Given the description of an element on the screen output the (x, y) to click on. 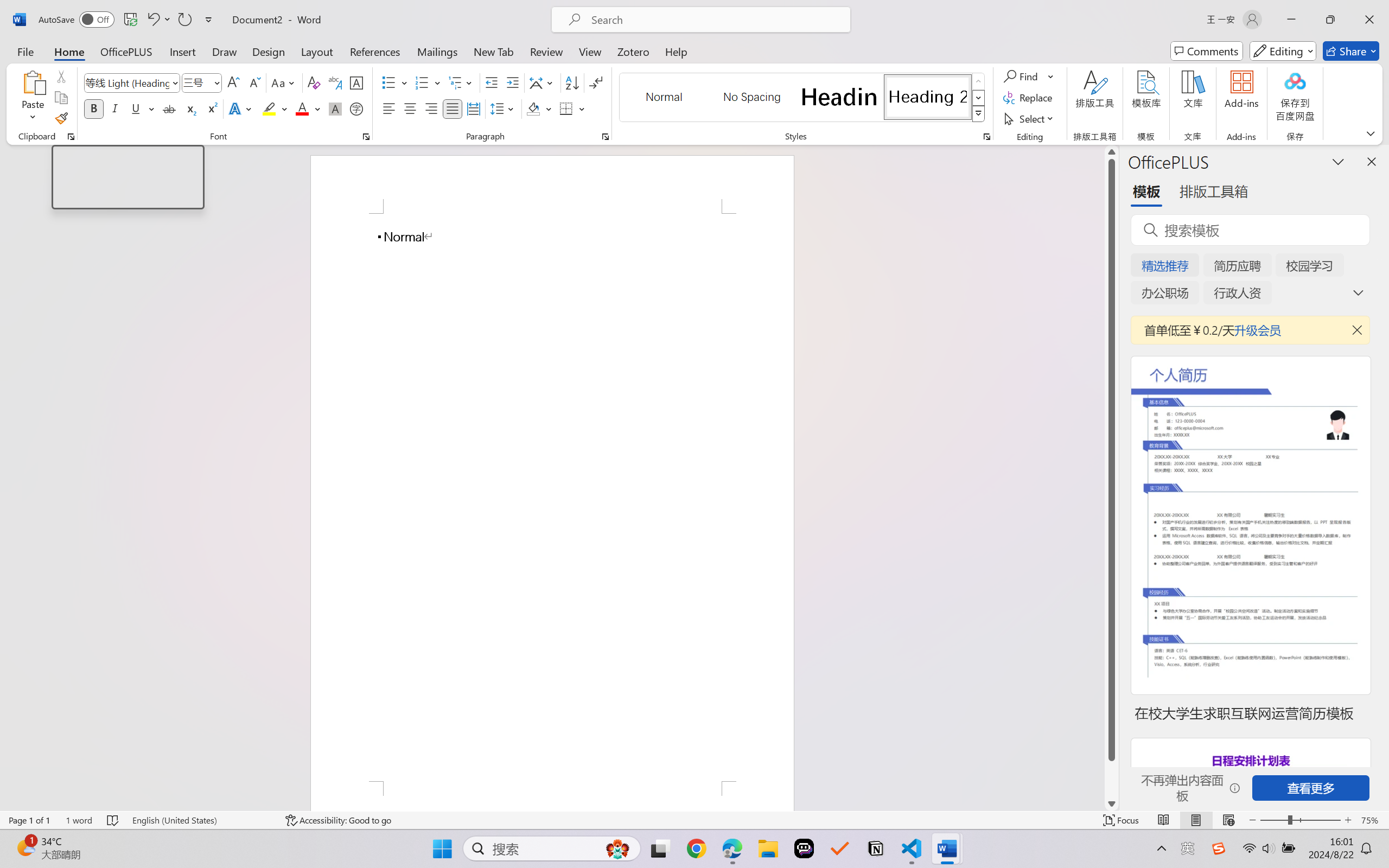
Line down (1111, 803)
Read Mode (1163, 819)
Grow Font (233, 82)
Bullets (388, 82)
Bullets (395, 82)
Home (69, 51)
Increase Indent (512, 82)
AutomationID: QuickStylesGallery (802, 97)
Class: NetUIScrollBar (1111, 477)
Paste (33, 97)
